Given the description of an element on the screen output the (x, y) to click on. 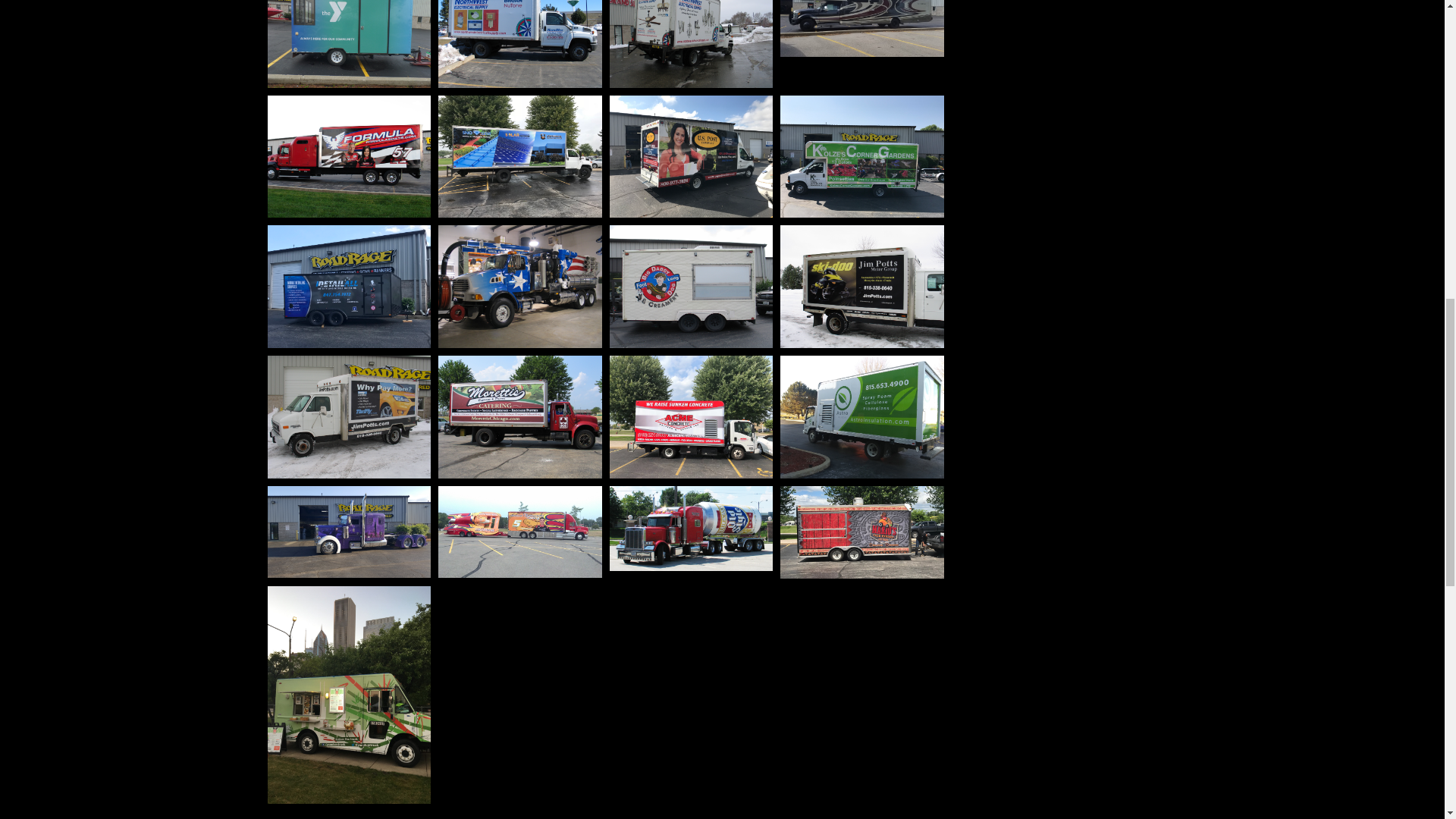
Eisco 3 (520, 286)
0110191527 (861, 416)
SAMSUNG CAMERA PICTURES (348, 43)
banner frame jim11 (861, 286)
banner frame jim9 (348, 416)
I Detail All Trailer (348, 286)
motorhome3 (861, 28)
acme concrete pass1 (691, 416)
